Given the description of an element on the screen output the (x, y) to click on. 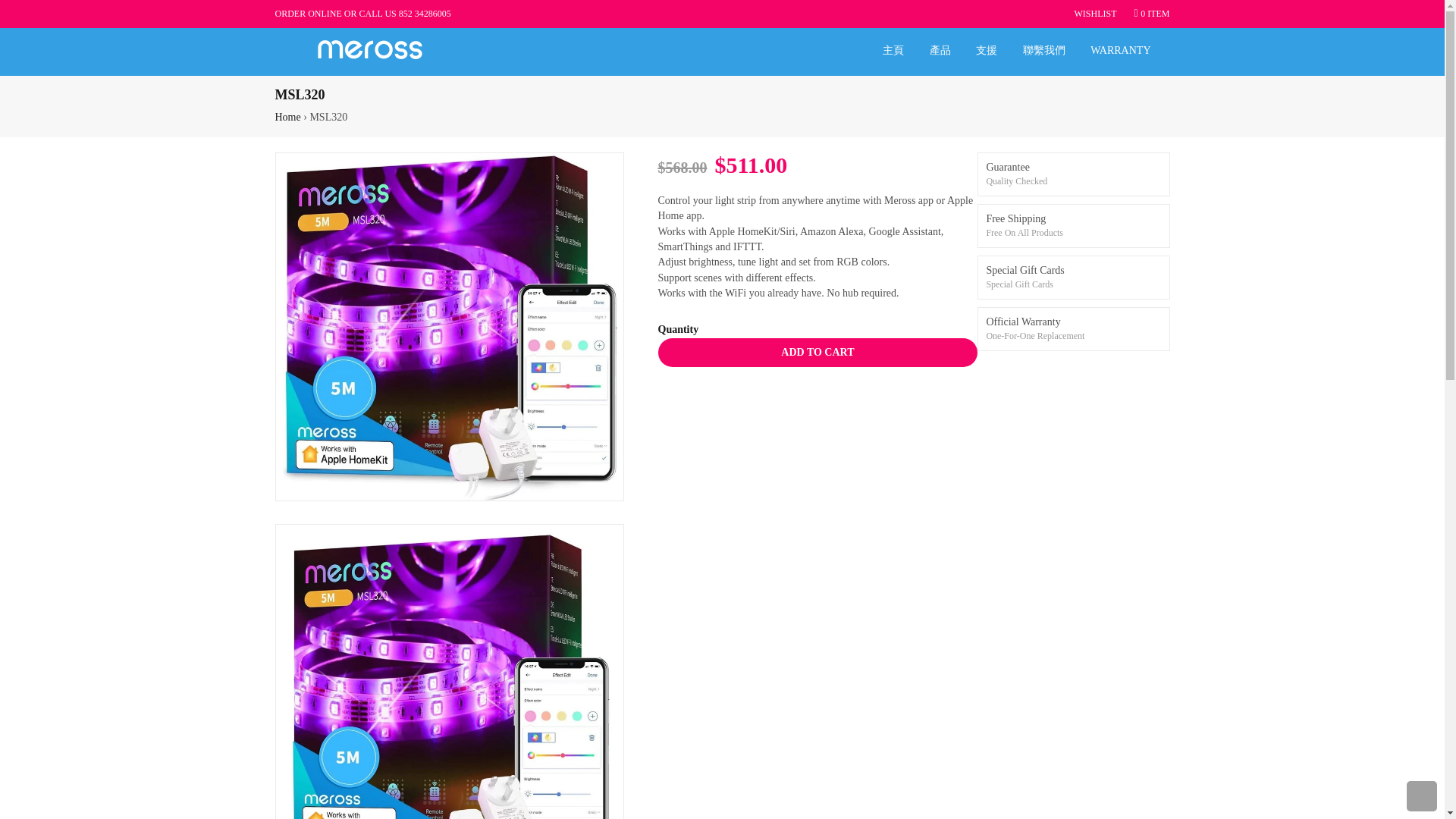
0 ITEM (1152, 13)
WISHLIST (1095, 13)
WARRANTY (1119, 50)
ADD TO CART (818, 352)
Scroll to Top (1421, 796)
Home (287, 116)
Back to the frontpage (287, 116)
